Given the description of an element on the screen output the (x, y) to click on. 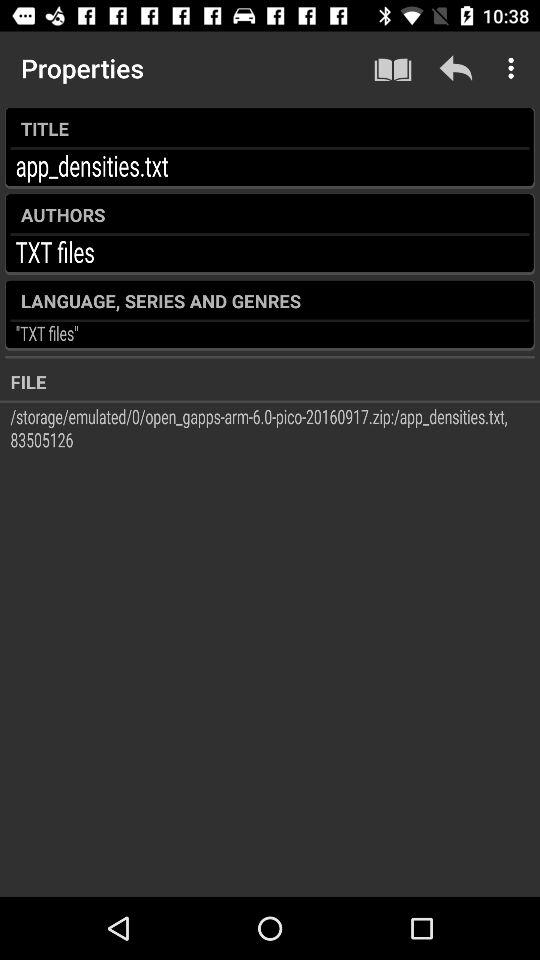
turn off the icon above the title icon (513, 67)
